Given the description of an element on the screen output the (x, y) to click on. 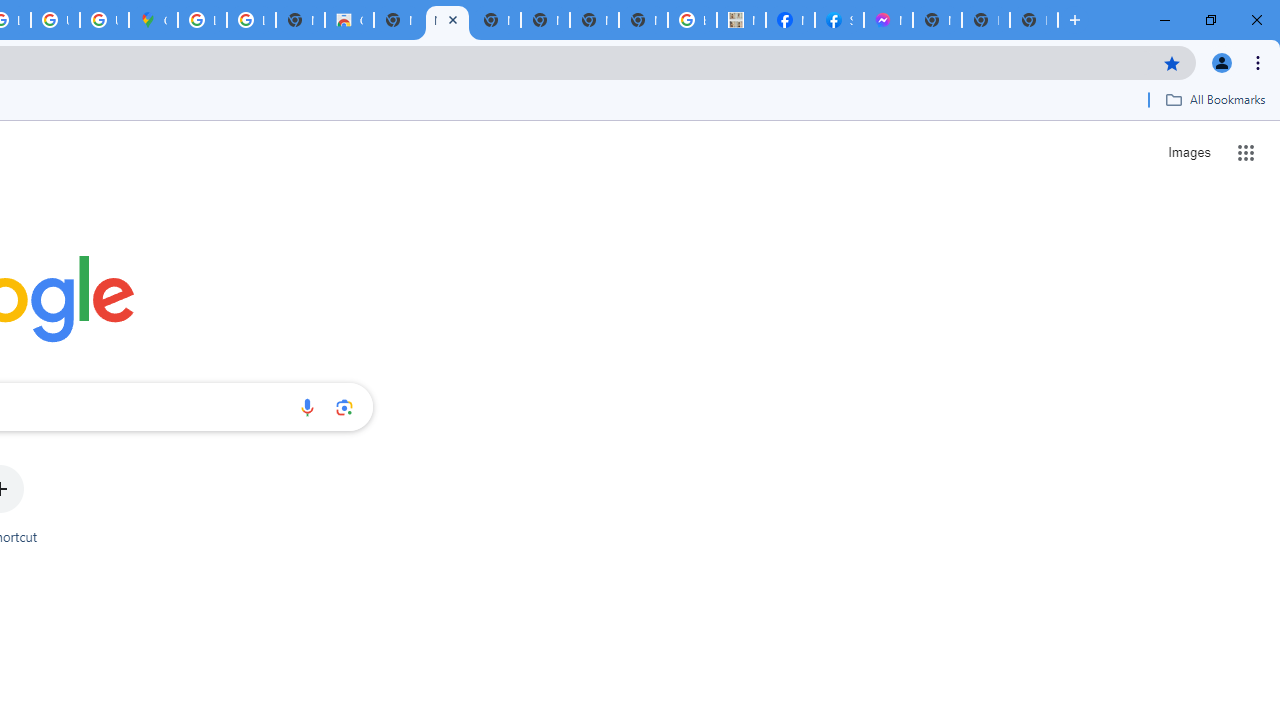
Search by image (344, 407)
New Tab (1033, 20)
Messenger (888, 20)
MILEY CYRUS. (740, 20)
All Bookmarks (1215, 99)
